Given the description of an element on the screen output the (x, y) to click on. 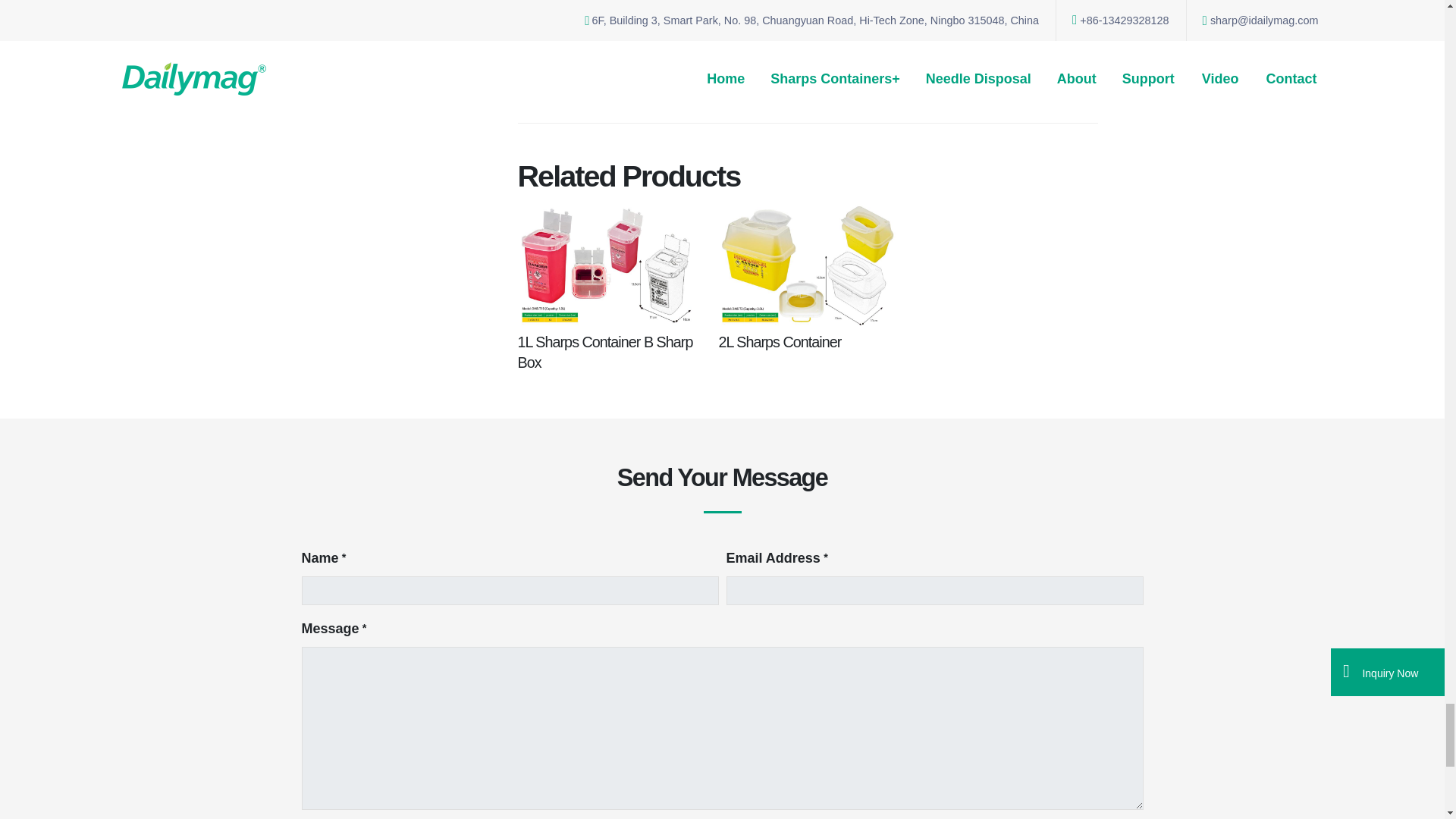
1L sharps box (650, 21)
